Given the description of an element on the screen output the (x, y) to click on. 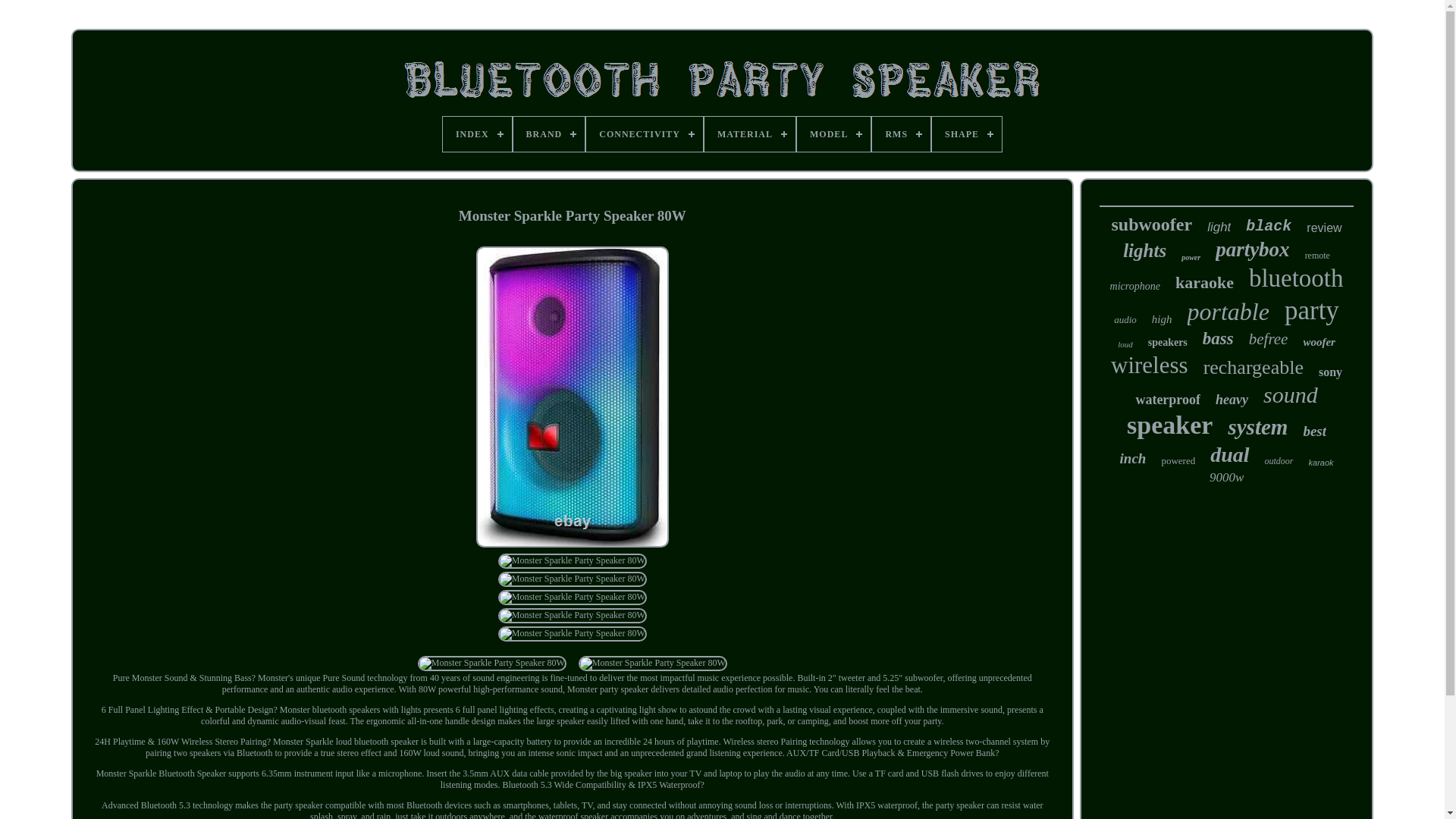
Monster Sparkle Party Speaker 80W (571, 560)
Monster Sparkle Party Speaker 80W (571, 597)
Monster Sparkle Party Speaker 80W (572, 396)
Monster Sparkle Party Speaker 80W (652, 663)
Monster Sparkle Party Speaker 80W (491, 663)
CONNECTIVITY (644, 134)
Monster Sparkle Party Speaker 80W (571, 633)
BRAND (549, 134)
Monster Sparkle Party Speaker 80W (571, 579)
INDEX (477, 134)
Monster Sparkle Party Speaker 80W (571, 615)
